Given the description of an element on the screen output the (x, y) to click on. 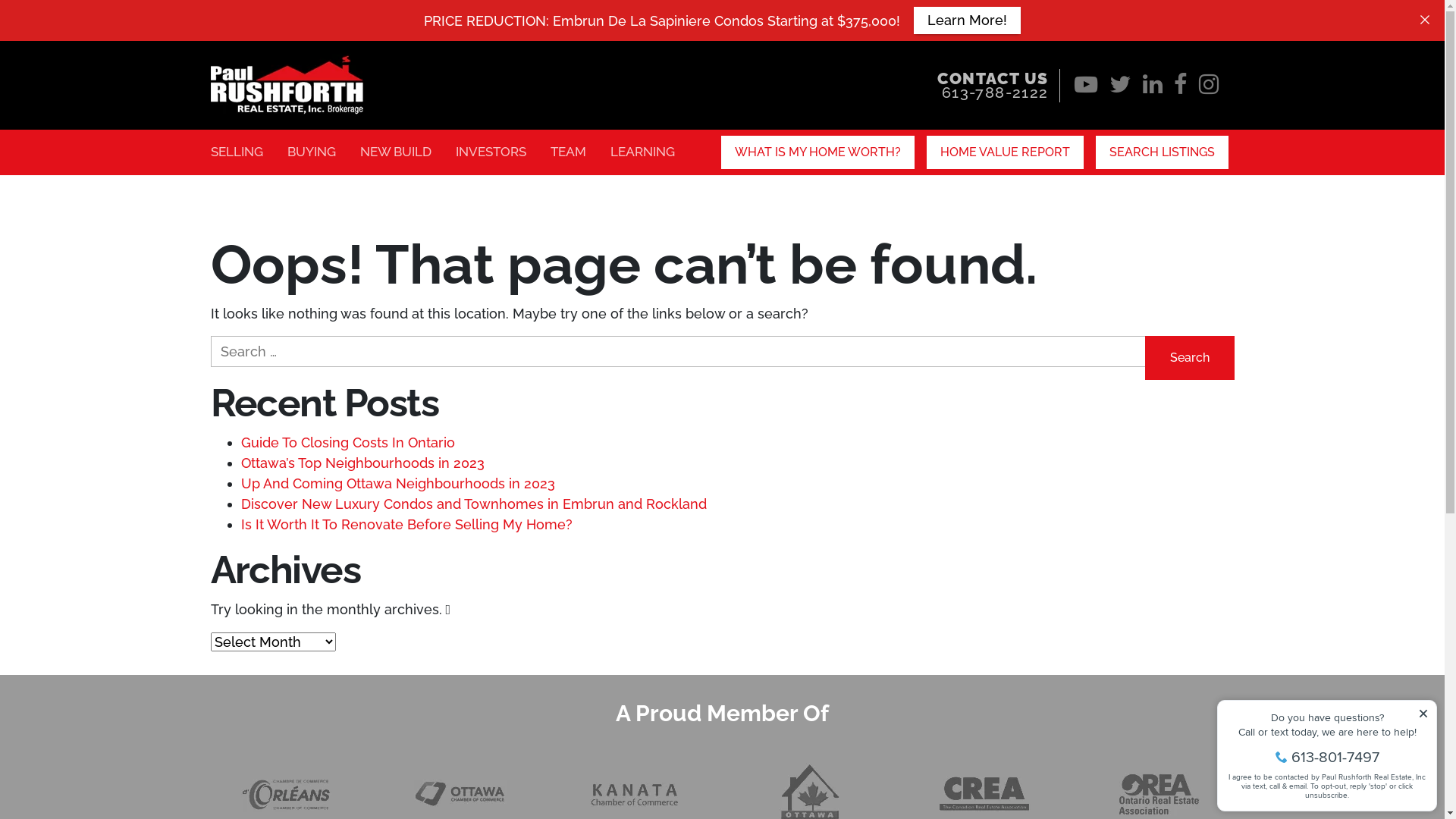
Learn More! Element type: text (966, 20)
SELLING Element type: text (236, 152)
HOME VALUE REPORT Element type: text (1004, 152)
613-788-2122 Element type: text (994, 92)
Twitter Element type: text (1120, 87)
BUYING Element type: text (310, 152)
LEARNING Element type: text (641, 152)
WHAT IS MY HOME WORTH? Element type: text (817, 152)
LinkedIn Element type: text (1152, 87)
NEW BUILD Element type: text (394, 152)
Guide To Closing Costs In Ontario Element type: text (348, 442)
CONTACT US Element type: text (992, 77)
Facebook Element type: text (1180, 87)
TEAM Element type: text (568, 152)
SEARCH LISTINGS Element type: text (1161, 152)
Instagram Element type: text (1208, 87)
Search Element type: text (1189, 357)
YouTube Element type: text (1086, 87)
INVESTORS Element type: text (489, 152)
Close Element type: hover (1424, 19)
Live Chat Button Element type: hover (1414, 788)
Is It Worth It To Renovate Before Selling My Home? Element type: text (406, 524)
Up And Coming Ottawa Neighbourhoods in 2023 Element type: text (398, 483)
